Given the description of an element on the screen output the (x, y) to click on. 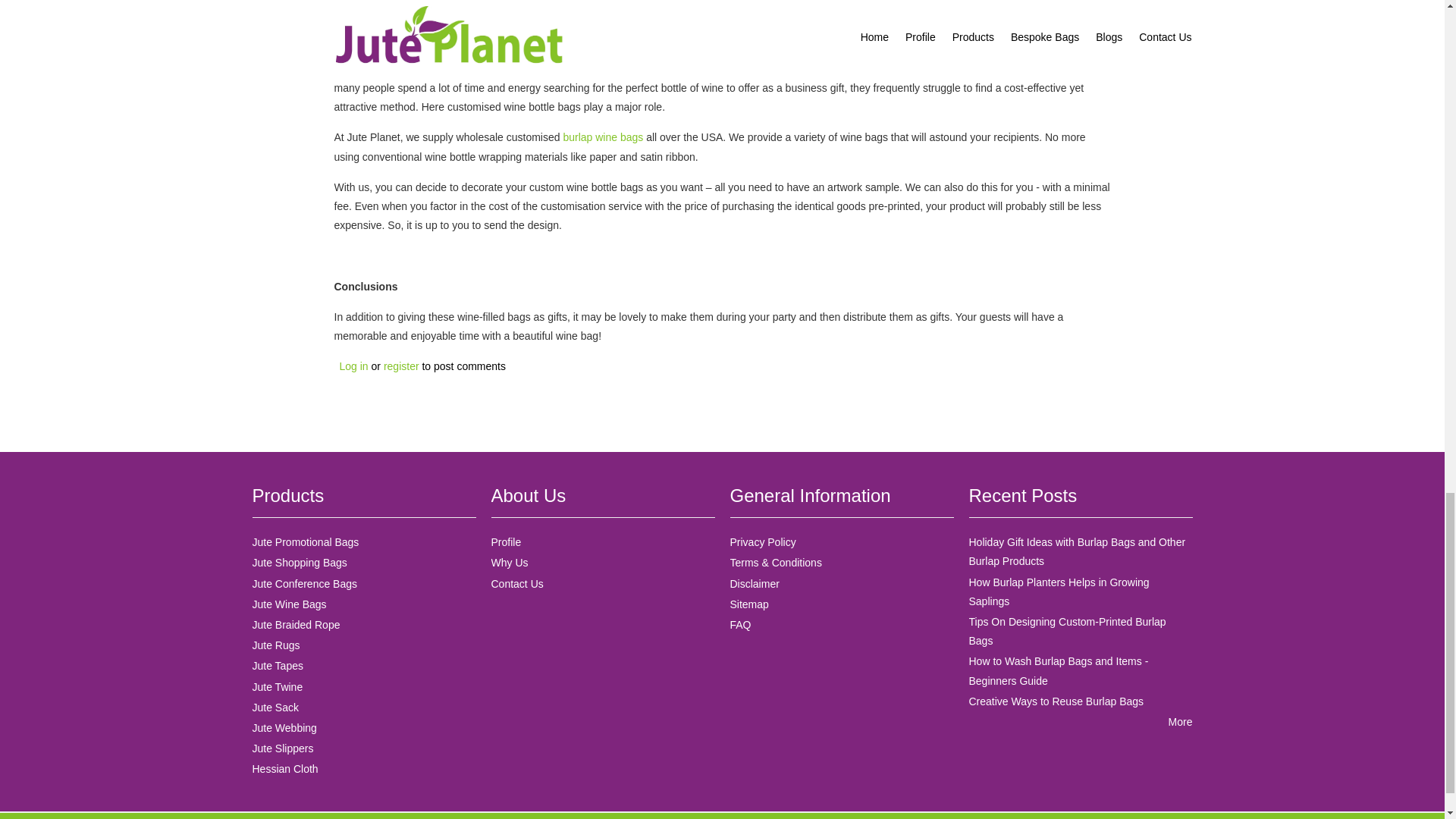
Log in (353, 366)
burlap wine bags (602, 137)
Jute Tapes (276, 665)
register (401, 366)
Jute Shopping Bags (298, 562)
Jute Rugs (275, 645)
Jute Wine Bags (288, 604)
Jute Conference Bags (303, 583)
Jute Promotional Bags (304, 541)
Jute Braided Rope (295, 624)
Jute Twine (276, 686)
